Given the description of an element on the screen output the (x, y) to click on. 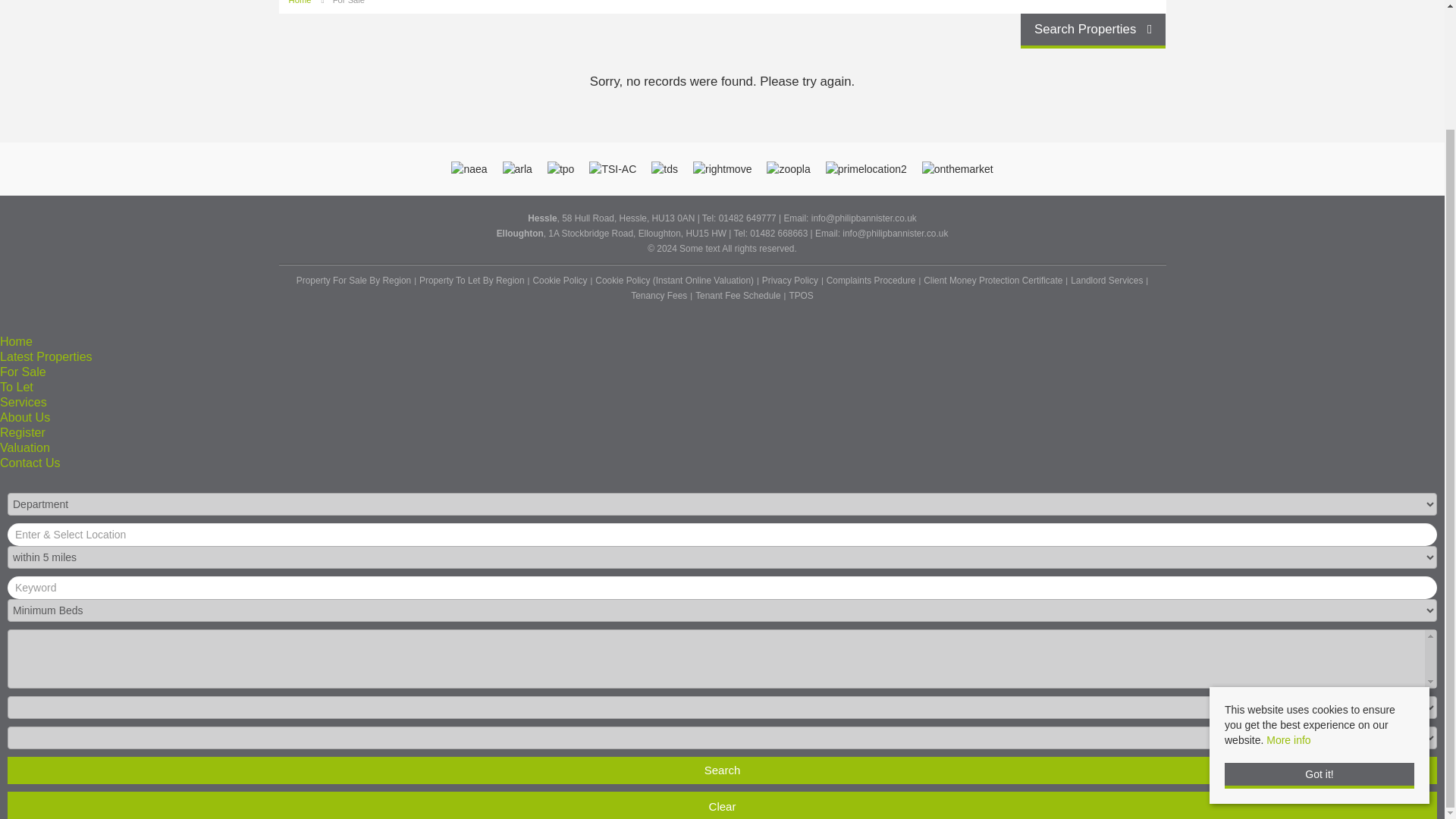
Landlord Services (1106, 280)
Home (299, 2)
For Sale (349, 2)
Cookie Policy (559, 280)
Tenancy Fees (658, 295)
Complaints Procedure (871, 280)
Property For Sale By Region (354, 280)
Property To Let By Region (471, 280)
Client Money Protection Certificate (992, 280)
Privacy Policy (789, 280)
